Given the description of an element on the screen output the (x, y) to click on. 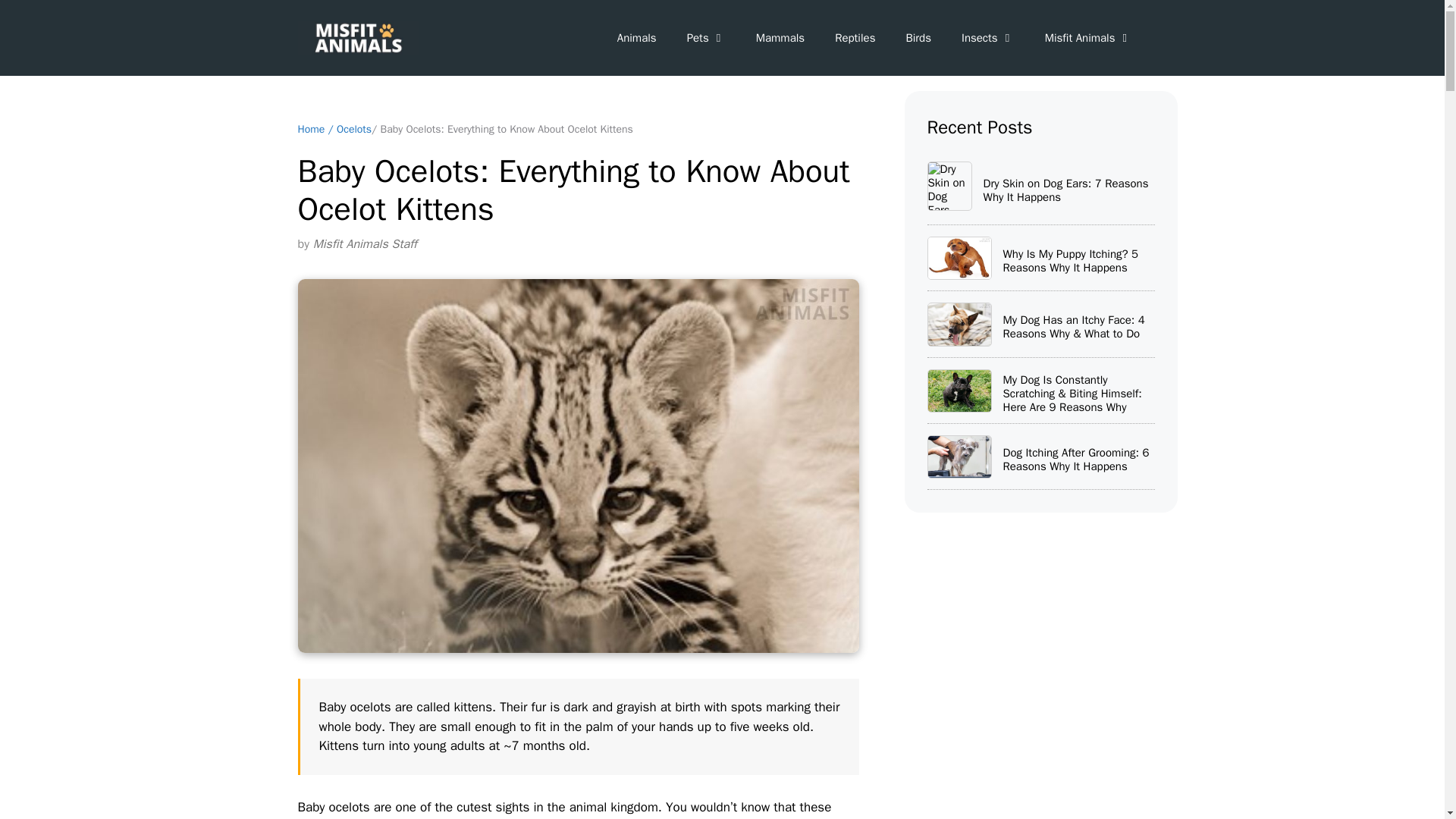
Misfit Animals (1088, 37)
Birds (917, 37)
Dry Skin on Dog Ears: 7 Reasons Why It Happens (948, 185)
Animals (636, 37)
Pets (706, 37)
Reptiles (854, 37)
Home (310, 128)
Mammals (780, 37)
Ocelots (353, 128)
Why Is My Puppy Itching? 5 Reasons Why It Happens (958, 258)
View all posts by Misfit Animals Staff (364, 243)
Misfit Animals Staff (364, 243)
Insects (987, 37)
